Given the description of an element on the screen output the (x, y) to click on. 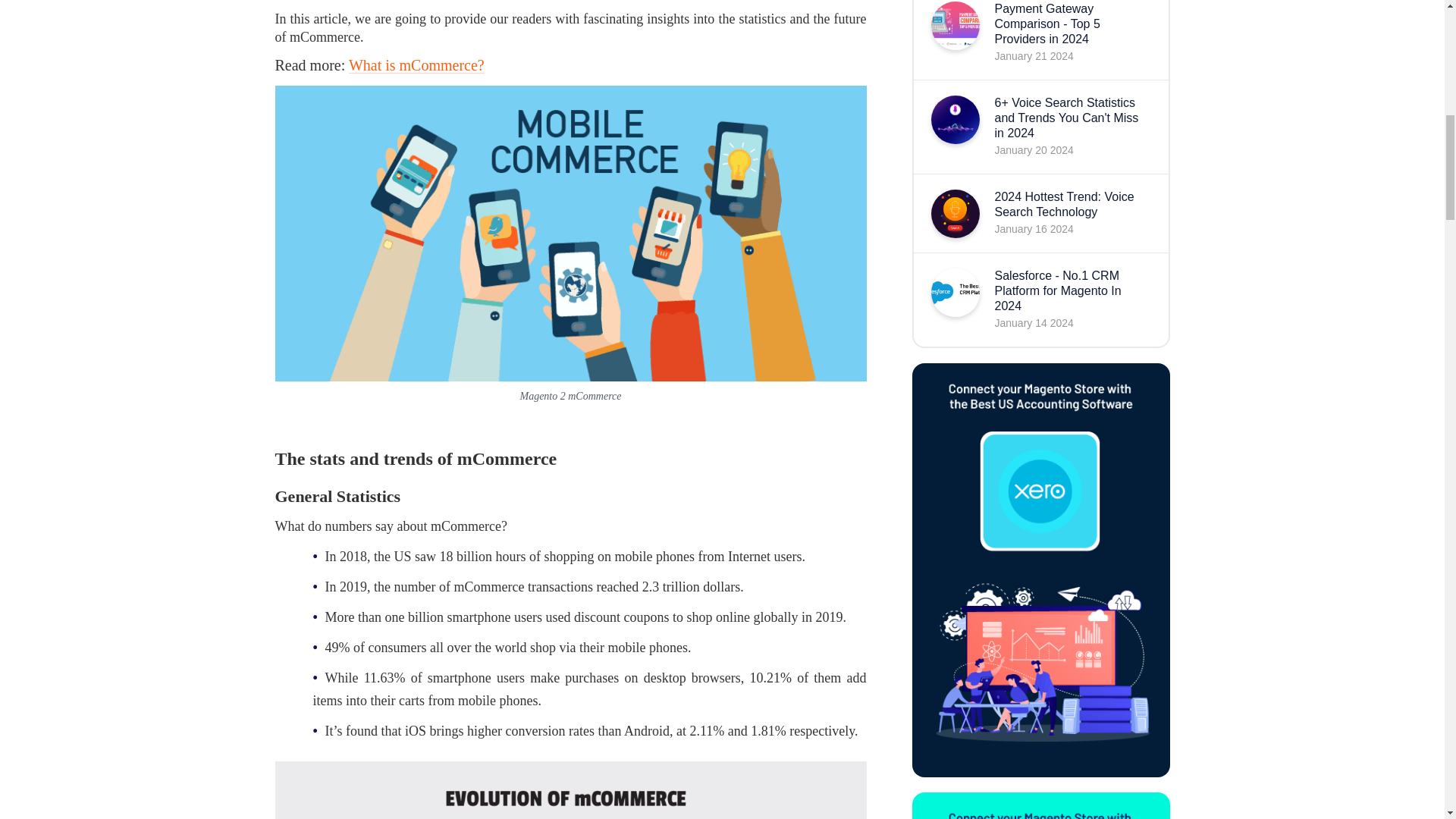
What is mCommerce? (416, 64)
